Given the description of an element on the screen output the (x, y) to click on. 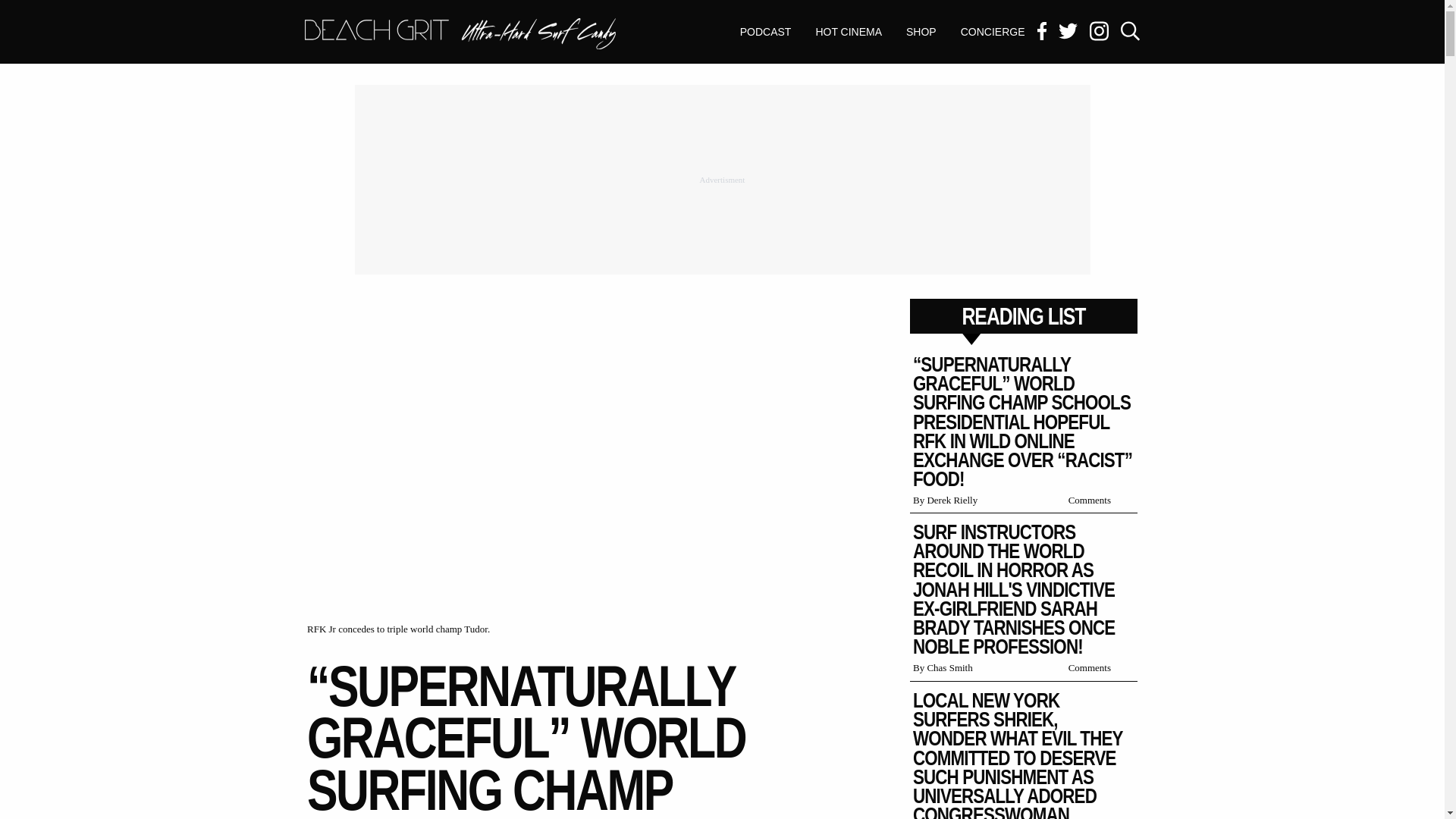
PODCAST (765, 31)
SHOP (459, 34)
HOT CINEMA (921, 31)
CONCIERGE (848, 31)
BG-LOGO (992, 31)
